Given the description of an element on the screen output the (x, y) to click on. 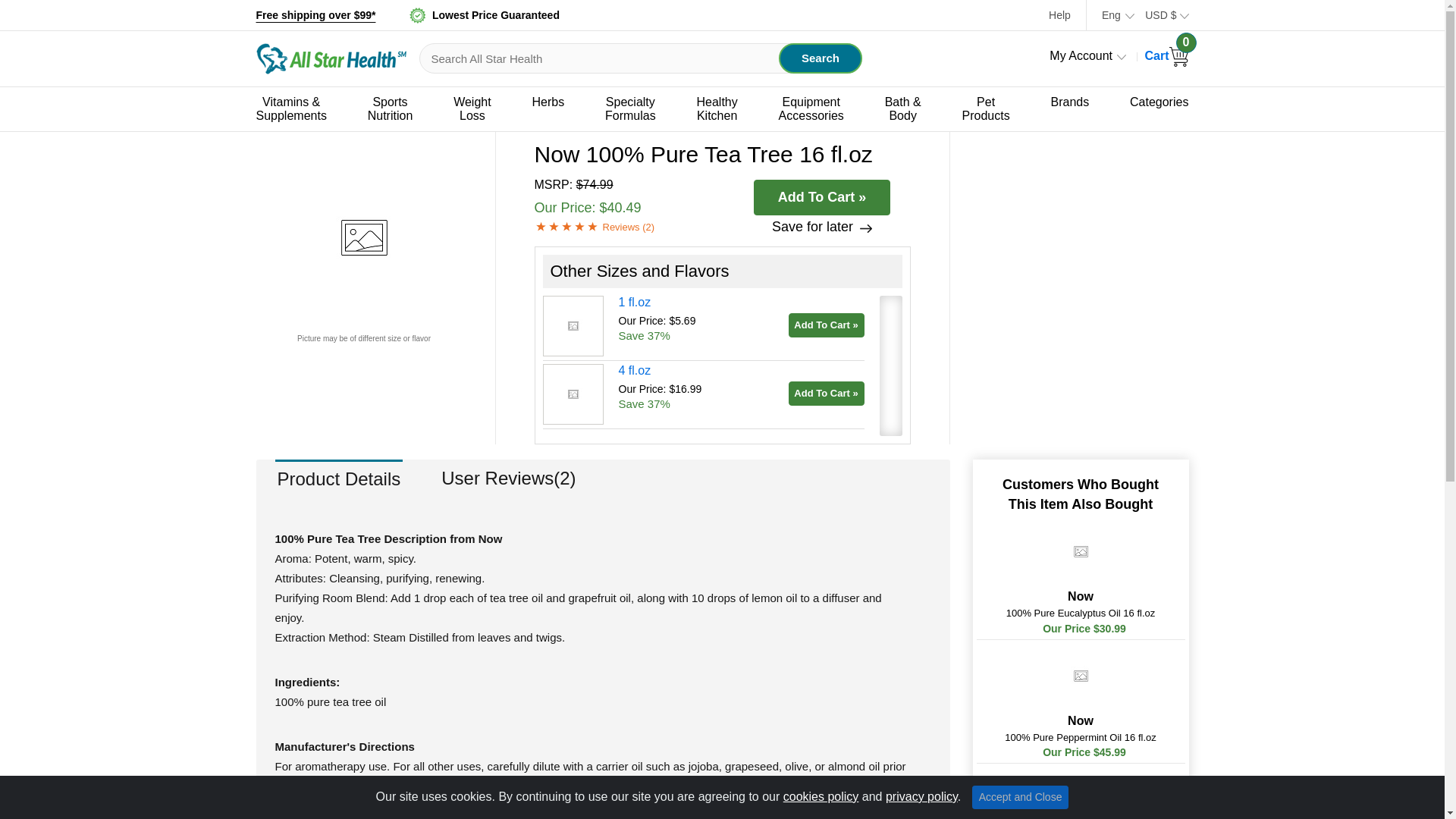
Search (819, 58)
My Account (390, 108)
Search (1087, 55)
Help (819, 58)
Eng (1059, 15)
